Given the description of an element on the screen output the (x, y) to click on. 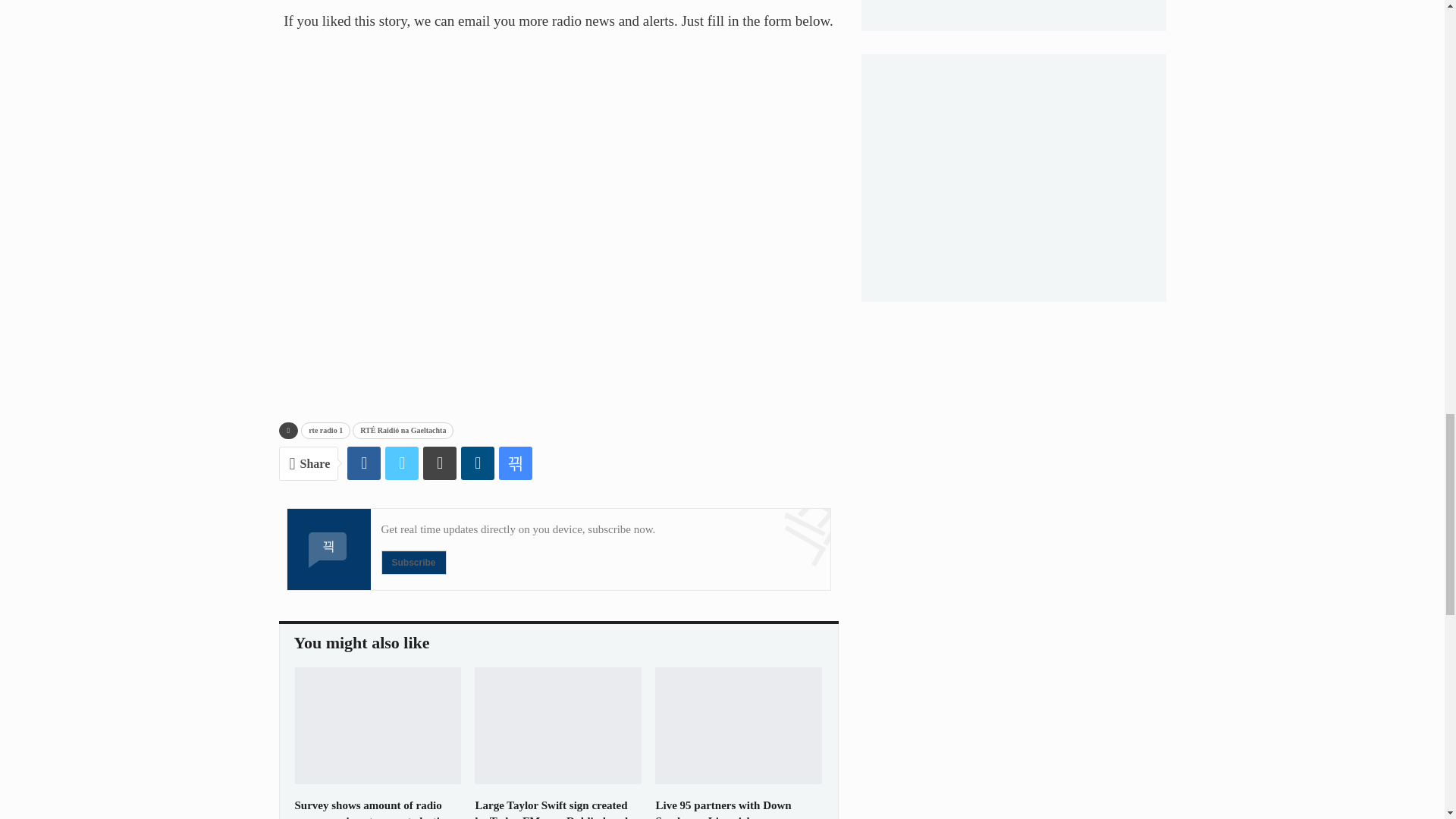
Subscribe (412, 350)
rte radio 1 (325, 217)
Live 95 partners with Down Syndrome Limerick (738, 513)
Radio Nova promotes one millionth ticket for Springsteen gig (738, 690)
Live 95 partners with Down Syndrome Limerick (722, 601)
Radio Nova promotes one millionth ticket for Springsteen gig (730, 786)
